Given the description of an element on the screen output the (x, y) to click on. 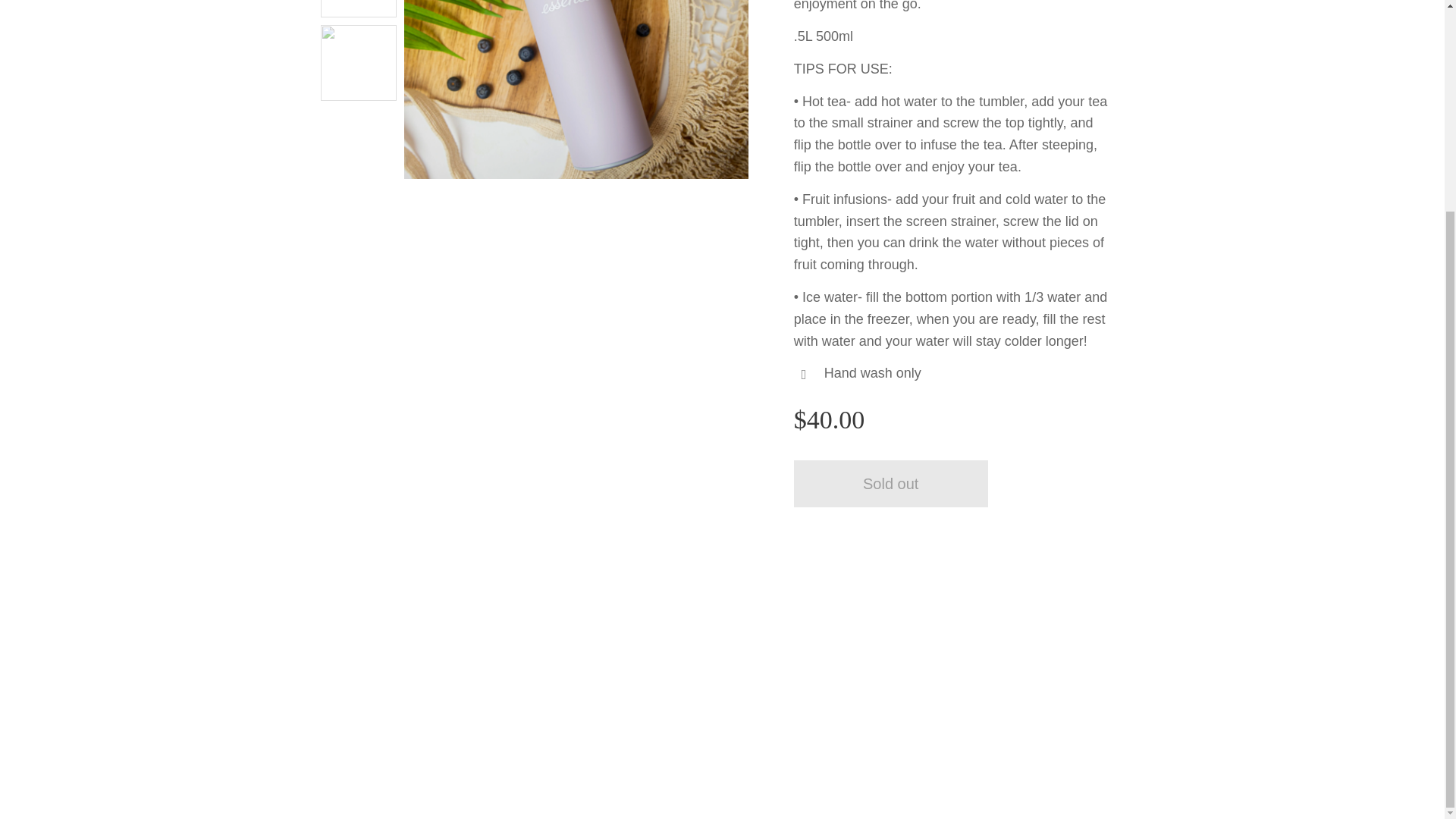
Sold out (890, 483)
